Given the description of an element on the screen output the (x, y) to click on. 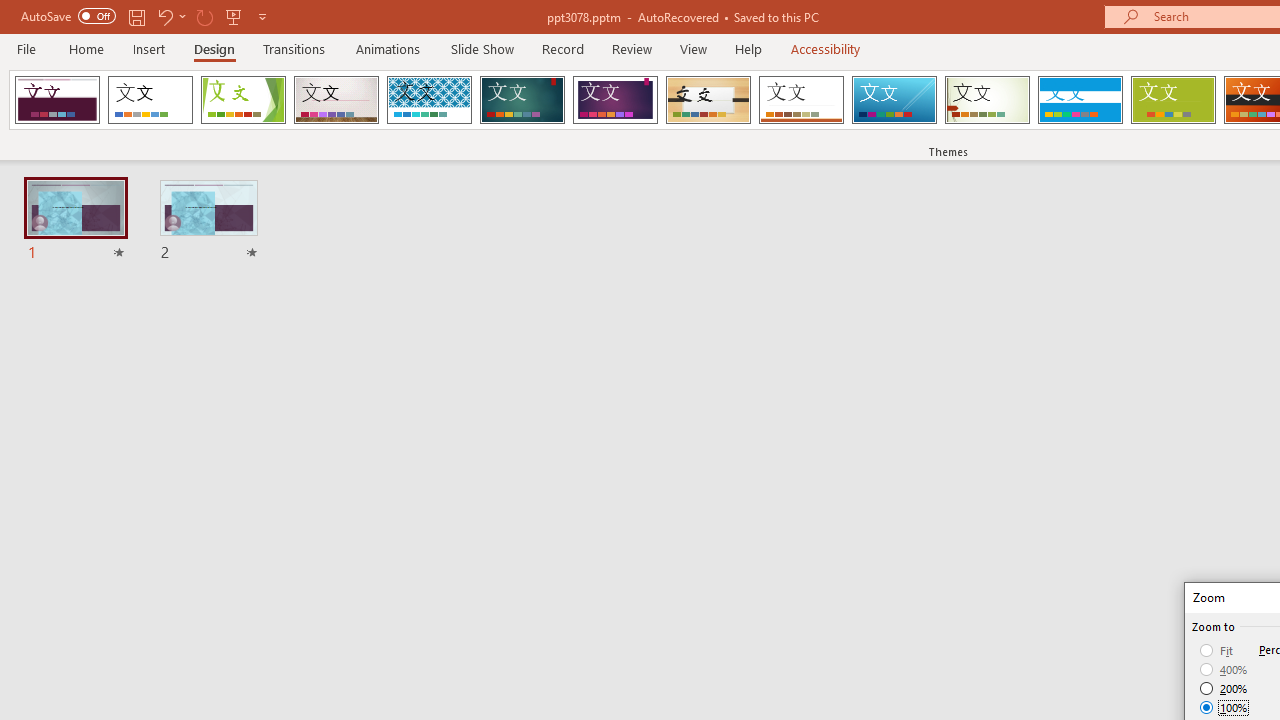
Banded (1080, 100)
Record (562, 48)
100% (1224, 707)
Design (214, 48)
Undo (164, 15)
400% (1224, 669)
Insert (149, 48)
File Tab (26, 48)
Undo (170, 15)
Integral (429, 100)
200% (1224, 688)
Gallery (336, 100)
System (10, 11)
Fit (1217, 650)
